Given the description of an element on the screen output the (x, y) to click on. 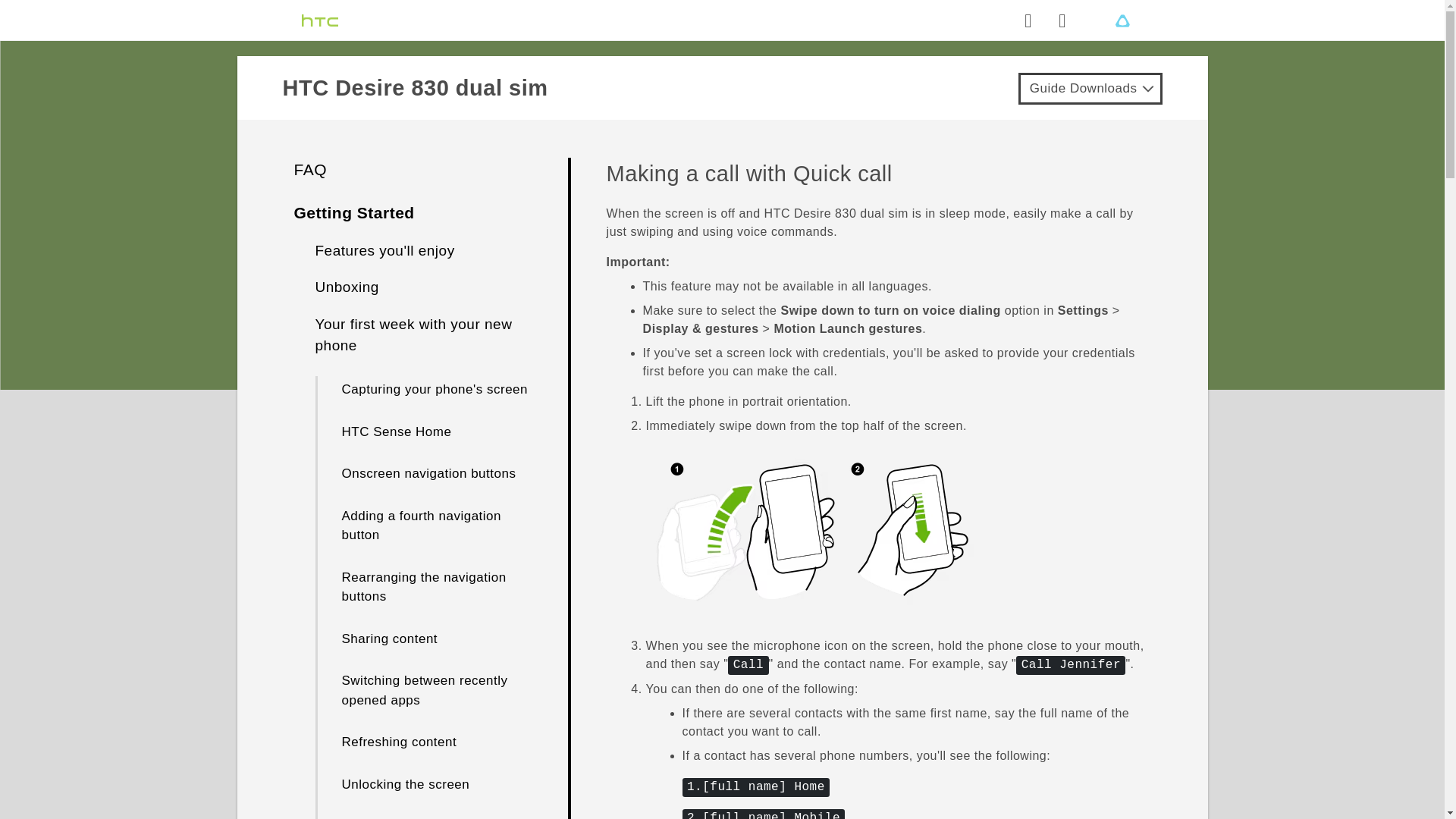
Login (1061, 19)
FAQ (310, 169)
